Given the description of an element on the screen output the (x, y) to click on. 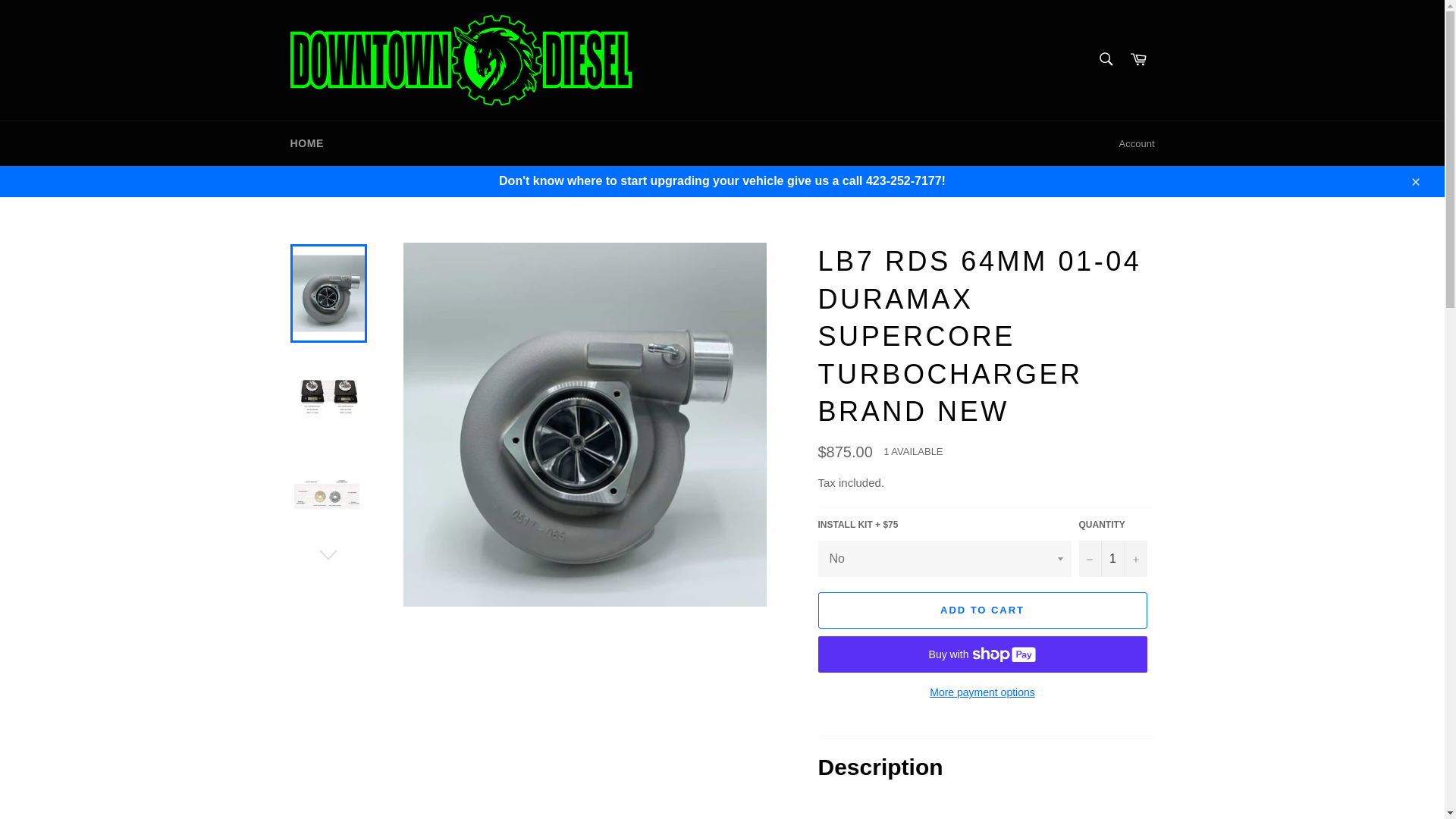
1 (1112, 558)
Close (1414, 181)
HOME (306, 143)
ADD TO CART (981, 610)
Cart (1138, 59)
More payment options (981, 692)
Account (1136, 144)
Search (1104, 59)
